Given the description of an element on the screen output the (x, y) to click on. 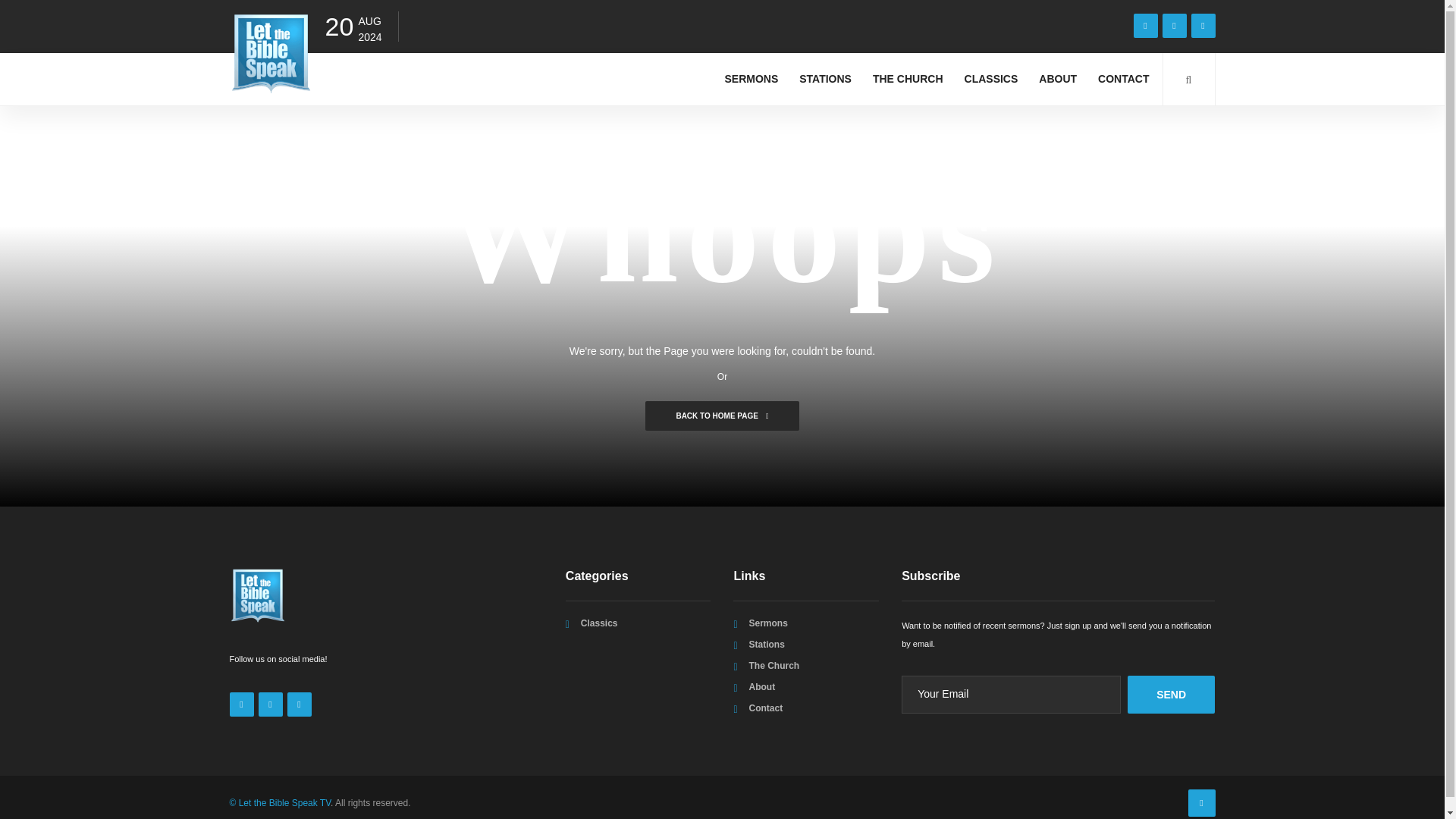
Contact (765, 707)
The Church (773, 665)
Stations (766, 644)
BACK TO HOME PAGE (721, 415)
THE CHURCH (908, 79)
ABOUT (1057, 79)
STATIONS (825, 79)
Sermons (767, 623)
CONTACT (1123, 79)
SEND (1170, 694)
